Given the description of an element on the screen output the (x, y) to click on. 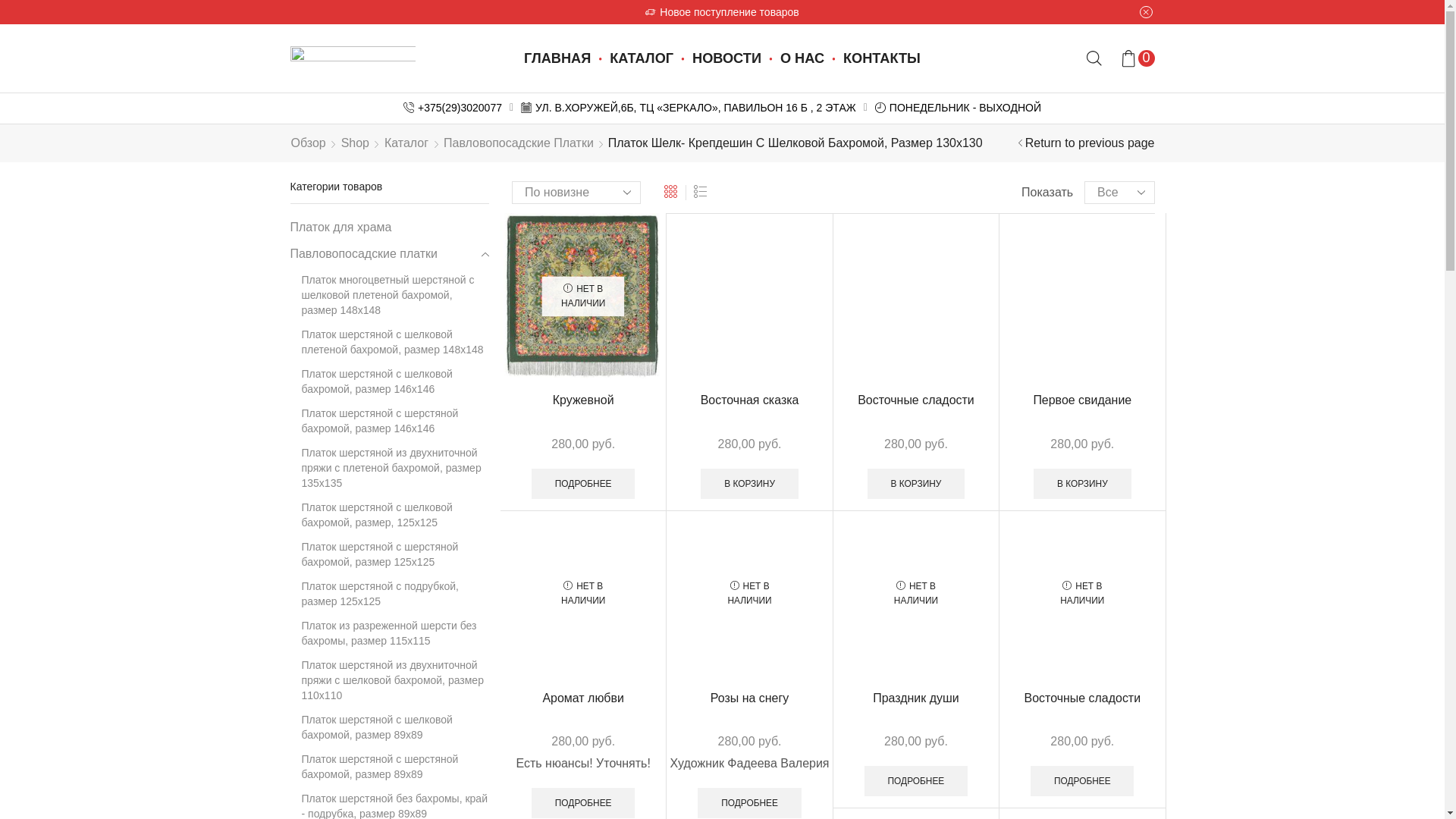
Return to previous page Element type: text (1089, 143)
Shop Element type: text (355, 143)
0 Element type: text (1137, 58)
